Given the description of an element on the screen output the (x, y) to click on. 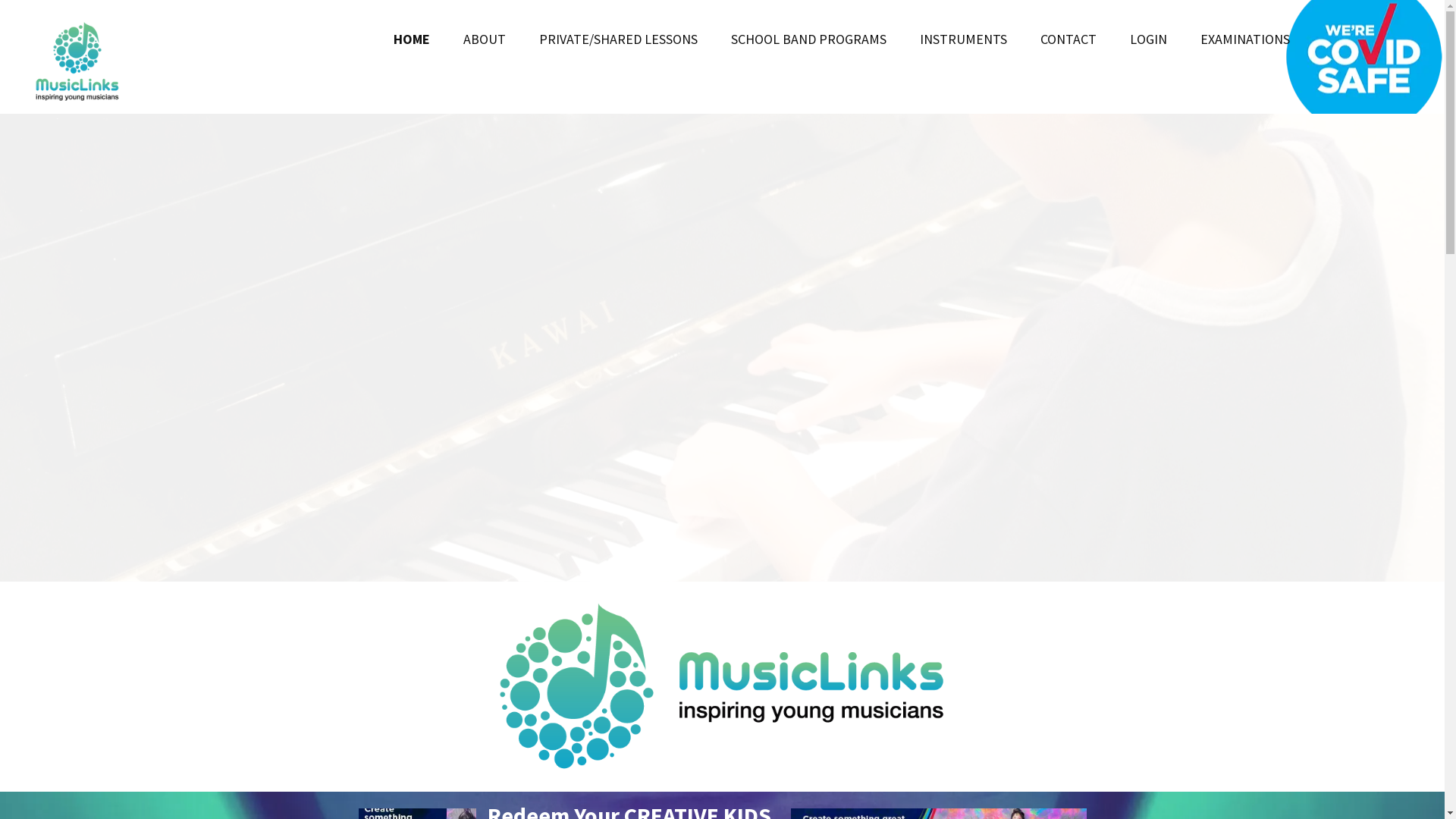
CONTACT Element type: text (1068, 38)
LOGIN Element type: text (1148, 38)
PRIVATE/SHARED LESSONS Element type: text (618, 38)
SCHOOL BAND PROGRAMS Element type: text (808, 38)
INSTRUMENTS Element type: text (963, 38)
EXAMINATIONS Element type: text (1244, 38)
HOME Element type: text (411, 38)
ABOUT Element type: text (484, 38)
